Given the description of an element on the screen output the (x, y) to click on. 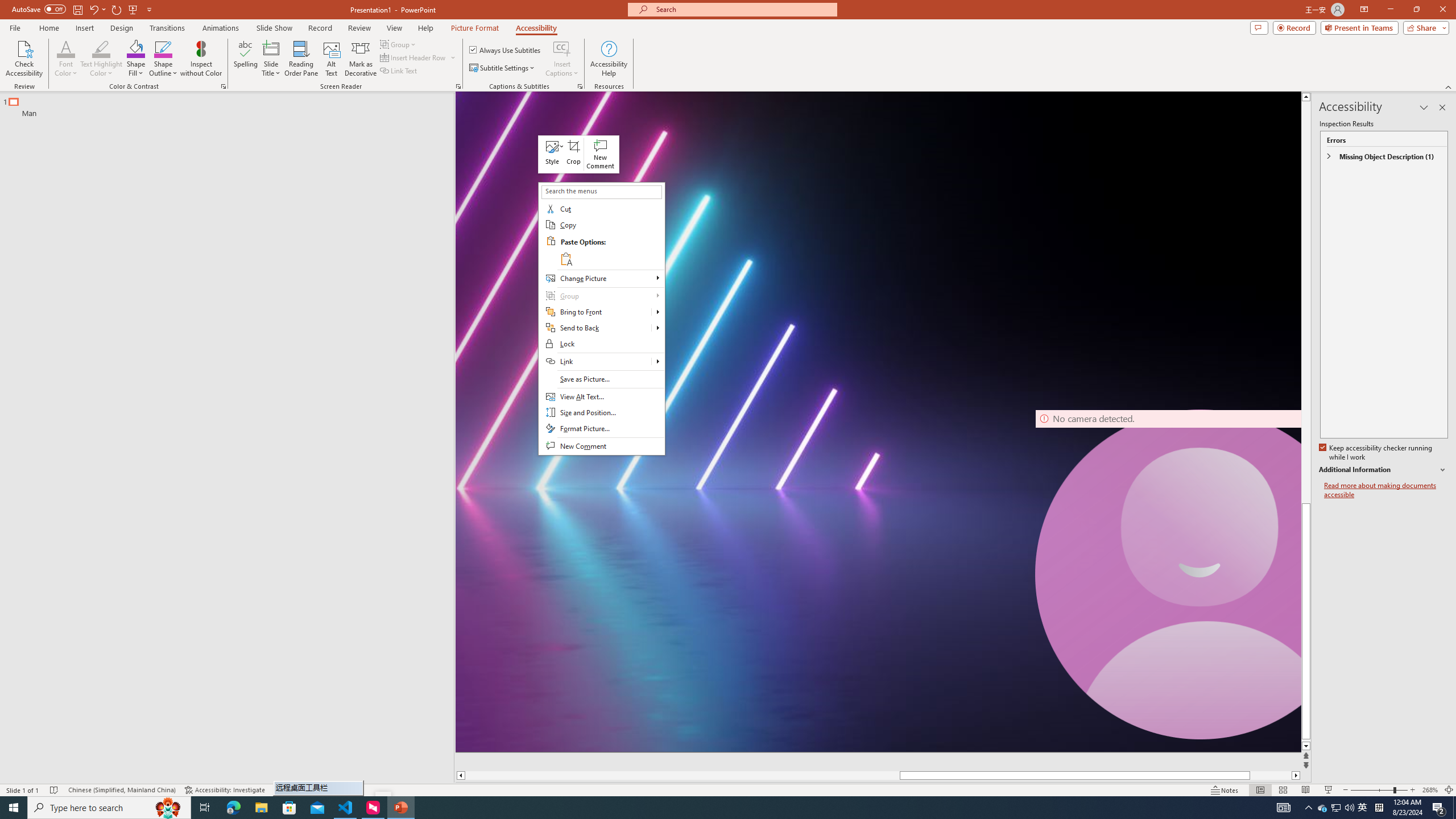
Keep Text Only (566, 258)
Captions & Subtitles (580, 85)
Send to Back (600, 327)
